Given the description of an element on the screen output the (x, y) to click on. 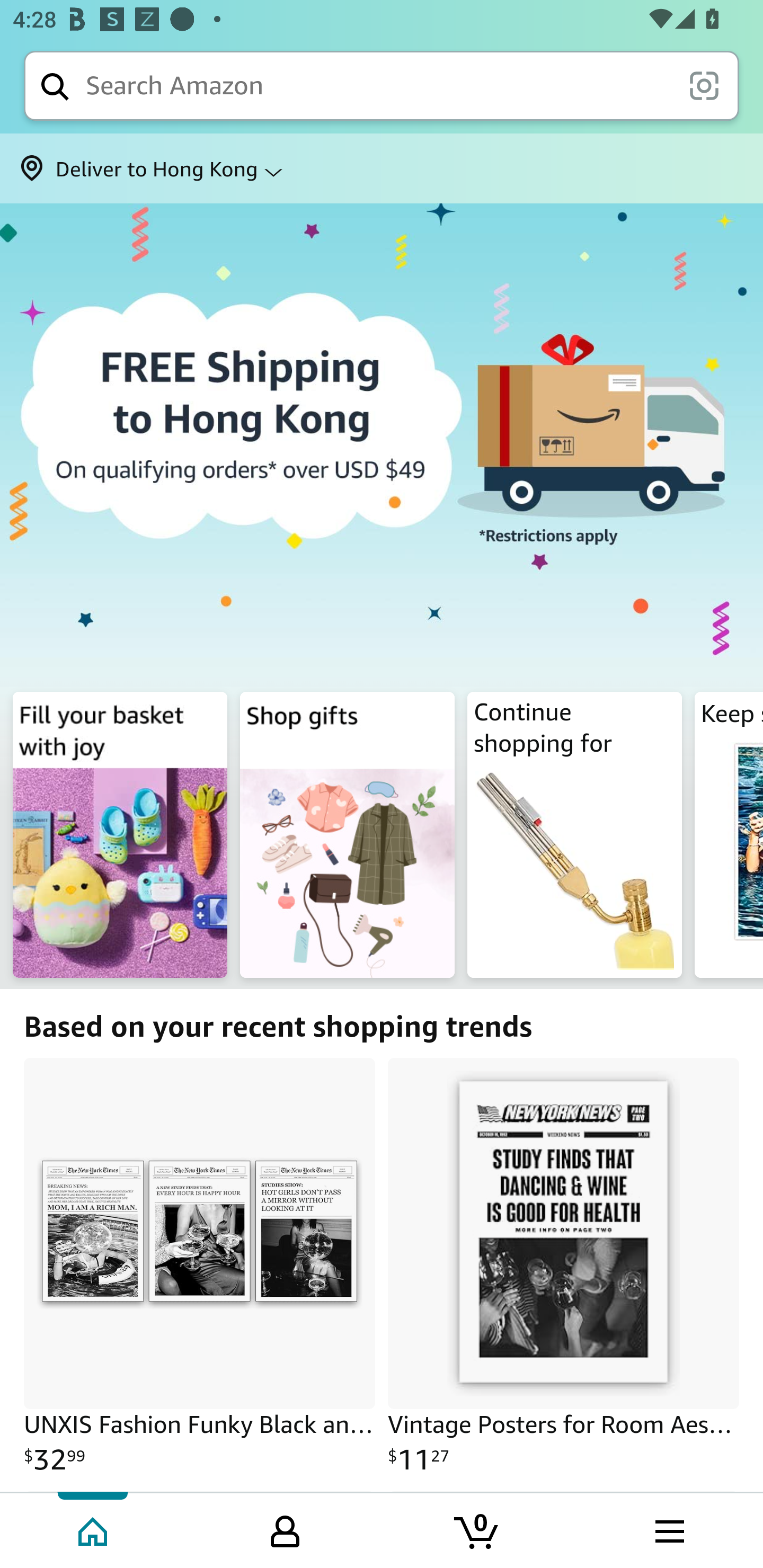
Search Search Search Amazon scan it (381, 85)
scan it (704, 85)
Deliver to Hong Kong ⌵ (381, 168)
Your Amazon.com Tab 2 of 4 (285, 1529)
Cart 0 item Tab 3 of 4 0 (477, 1529)
Browse menu Tab 4 of 4 (668, 1529)
